Given the description of an element on the screen output the (x, y) to click on. 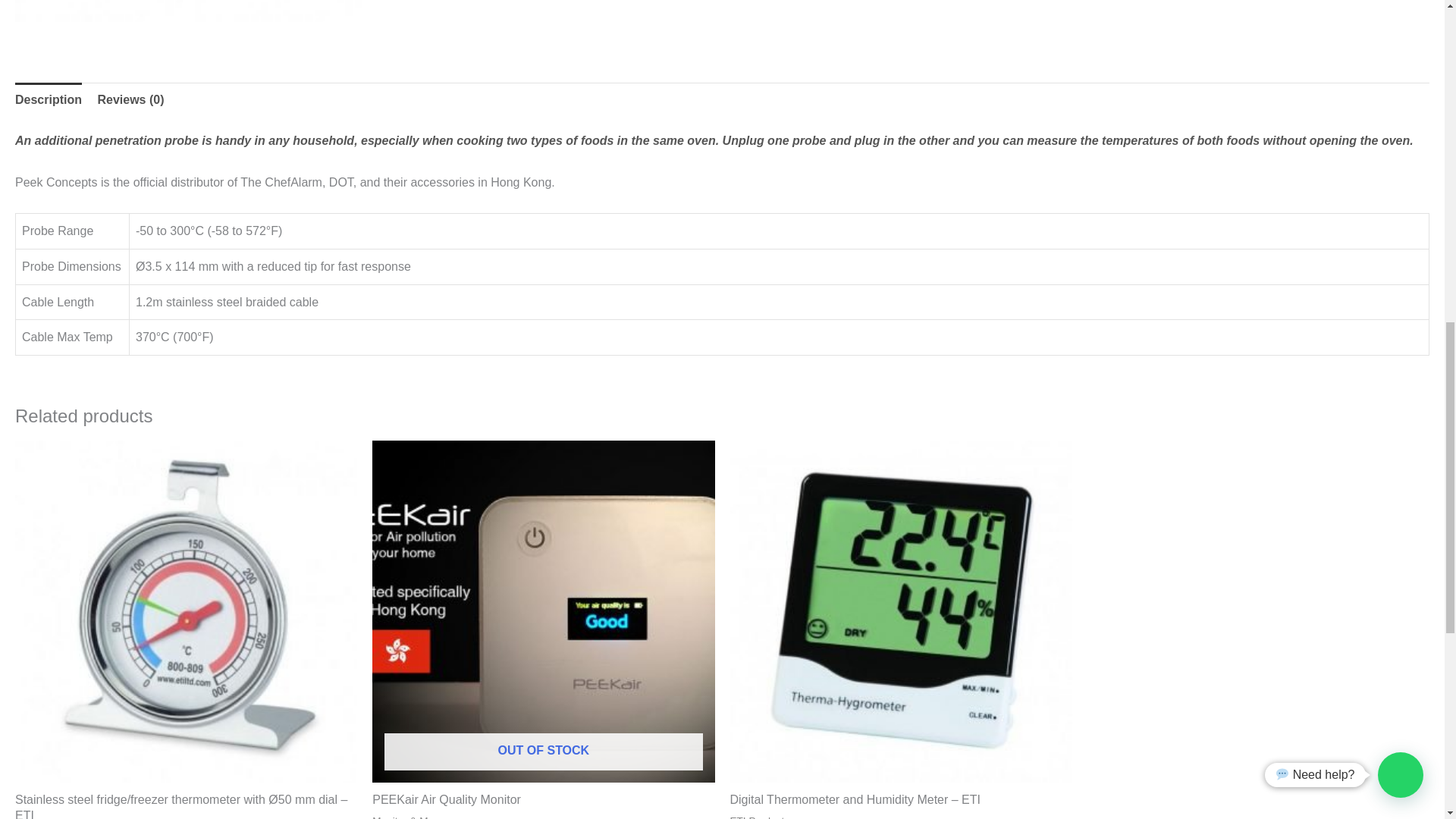
OUT OF STOCK (543, 611)
PEEKair Air Quality Monitor (543, 800)
Description (47, 99)
